Given the description of an element on the screen output the (x, y) to click on. 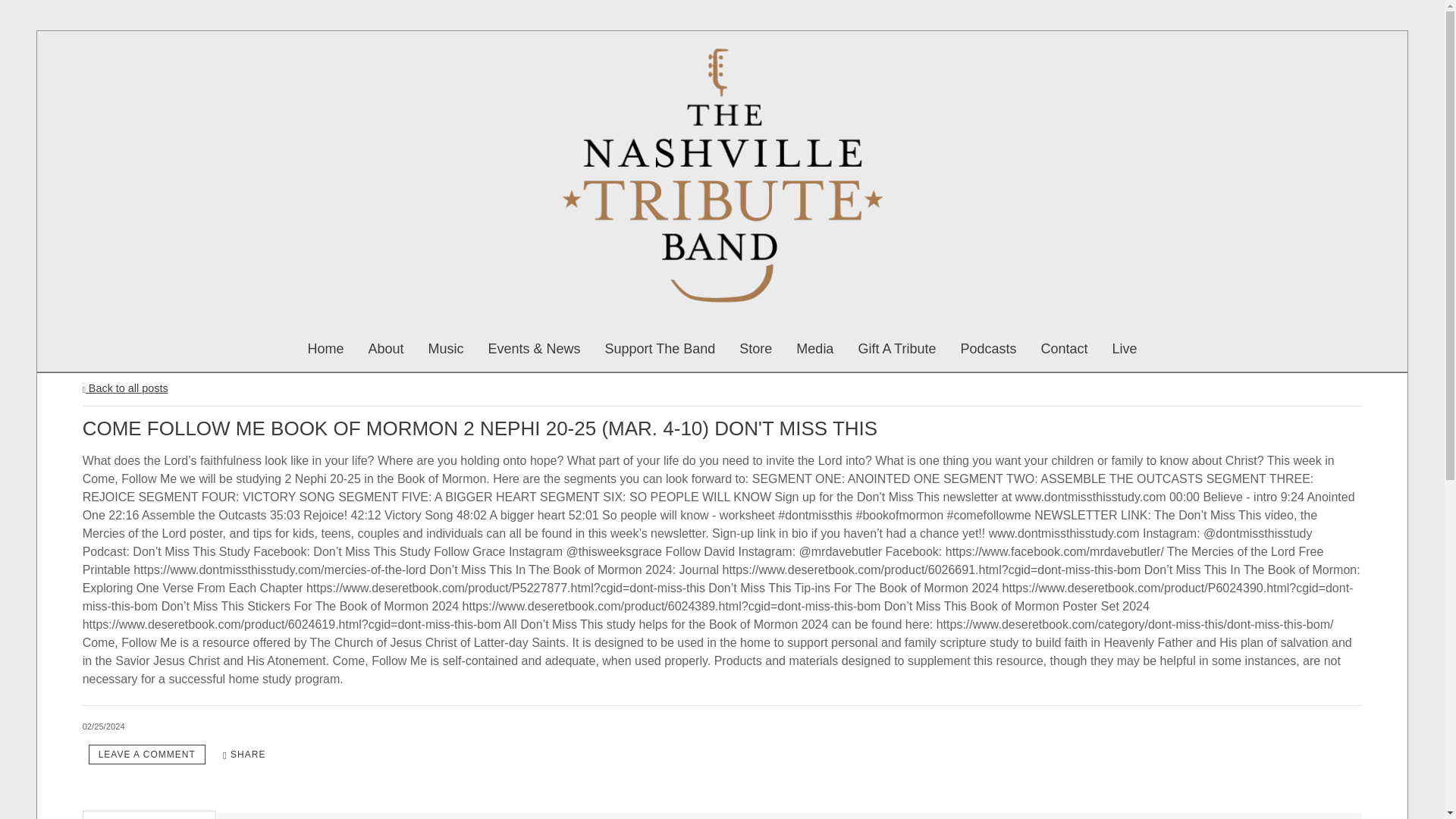
Store (755, 349)
SHARE (244, 753)
Home (325, 349)
Back to all posts (125, 387)
Gift A Tribute (896, 349)
February 25, 2024 18:13 (103, 726)
Leave a comment (146, 754)
Podcasts (987, 349)
Music (445, 349)
Live (1124, 349)
